Given the description of an element on the screen output the (x, y) to click on. 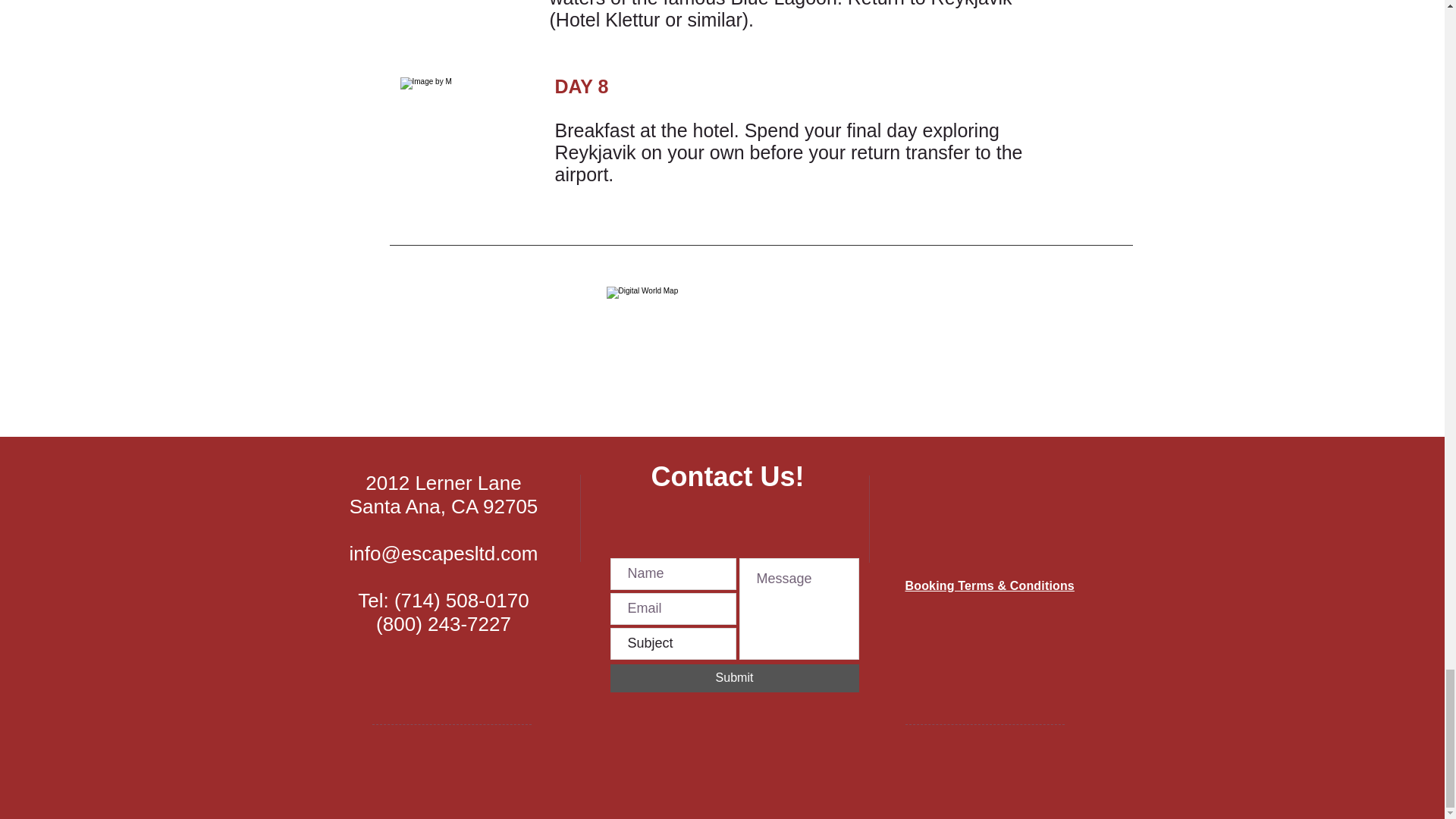
Submit (734, 678)
